Given the description of an element on the screen output the (x, y) to click on. 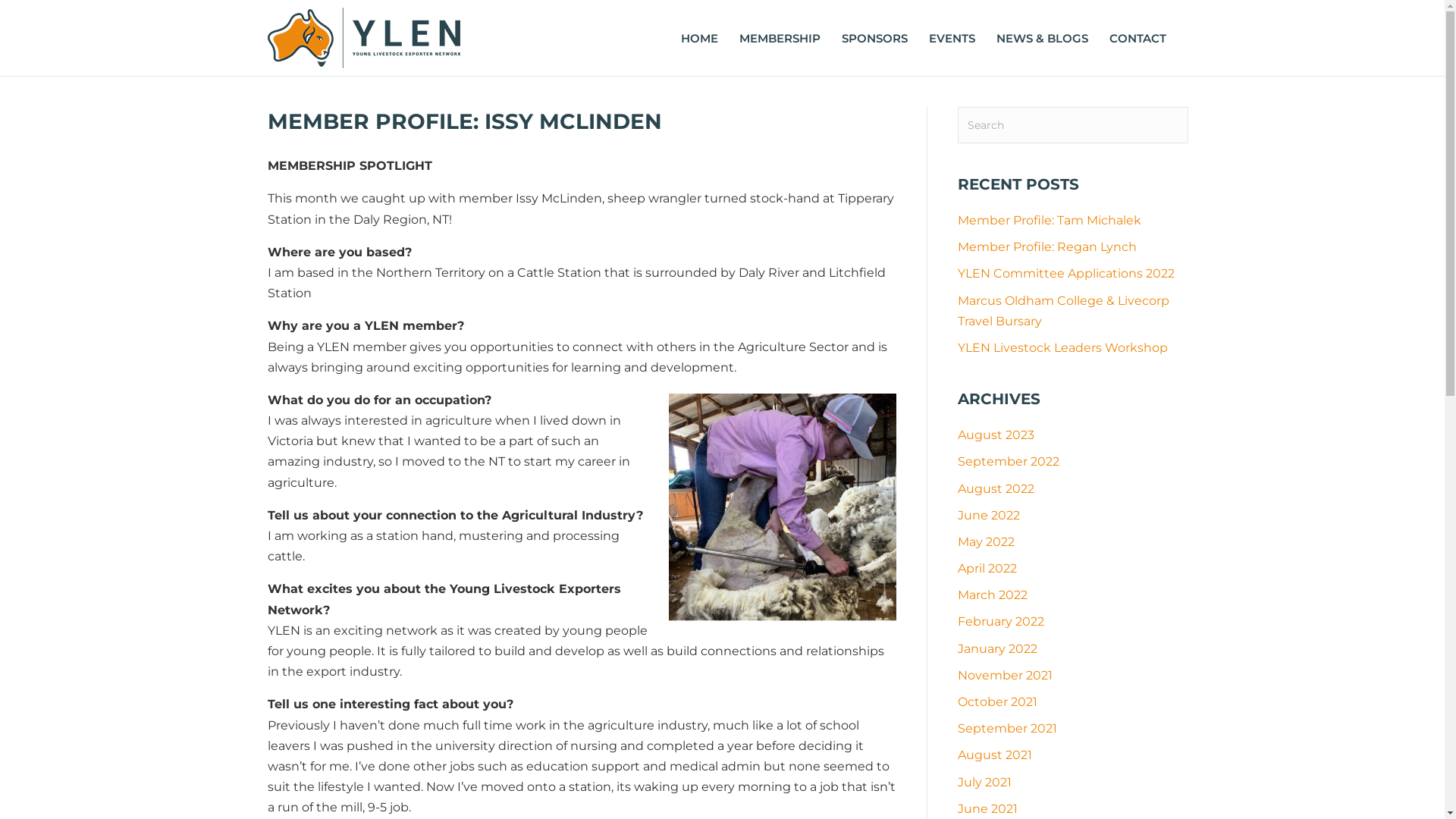
May 2022 Element type: text (985, 541)
October 2021 Element type: text (997, 701)
April 2022 Element type: text (986, 568)
September 2022 Element type: text (1008, 461)
YLEN Committee Applications 2022 Element type: text (1065, 273)
June 2022 Element type: text (988, 515)
February 2022 Element type: text (1000, 621)
Type and press Enter to search. Element type: hover (1072, 124)
June 2021 Element type: text (987, 808)
NEWS & BLOGS Element type: text (1041, 37)
August 2023 Element type: text (995, 434)
Member Profile: Regan Lynch Element type: text (1046, 246)
CONTACT Element type: text (1137, 37)
Member Profile: Tam Michalek Element type: text (1049, 220)
MEMBERSHIP Element type: text (779, 37)
July 2021 Element type: text (984, 782)
November 2021 Element type: text (1004, 675)
September 2021 Element type: text (1007, 728)
SPONSORS Element type: text (874, 37)
Marcus Oldham College & Livecorp Travel Bursary Element type: text (1063, 310)
August 2021 Element type: text (994, 754)
January 2022 Element type: text (997, 648)
March 2022 Element type: text (992, 594)
EVENTS Element type: text (951, 37)
August 2022 Element type: text (995, 487)
YLEN Livestock Leaders Workshop Element type: text (1062, 347)
HOME Element type: text (699, 37)
